Given the description of an element on the screen output the (x, y) to click on. 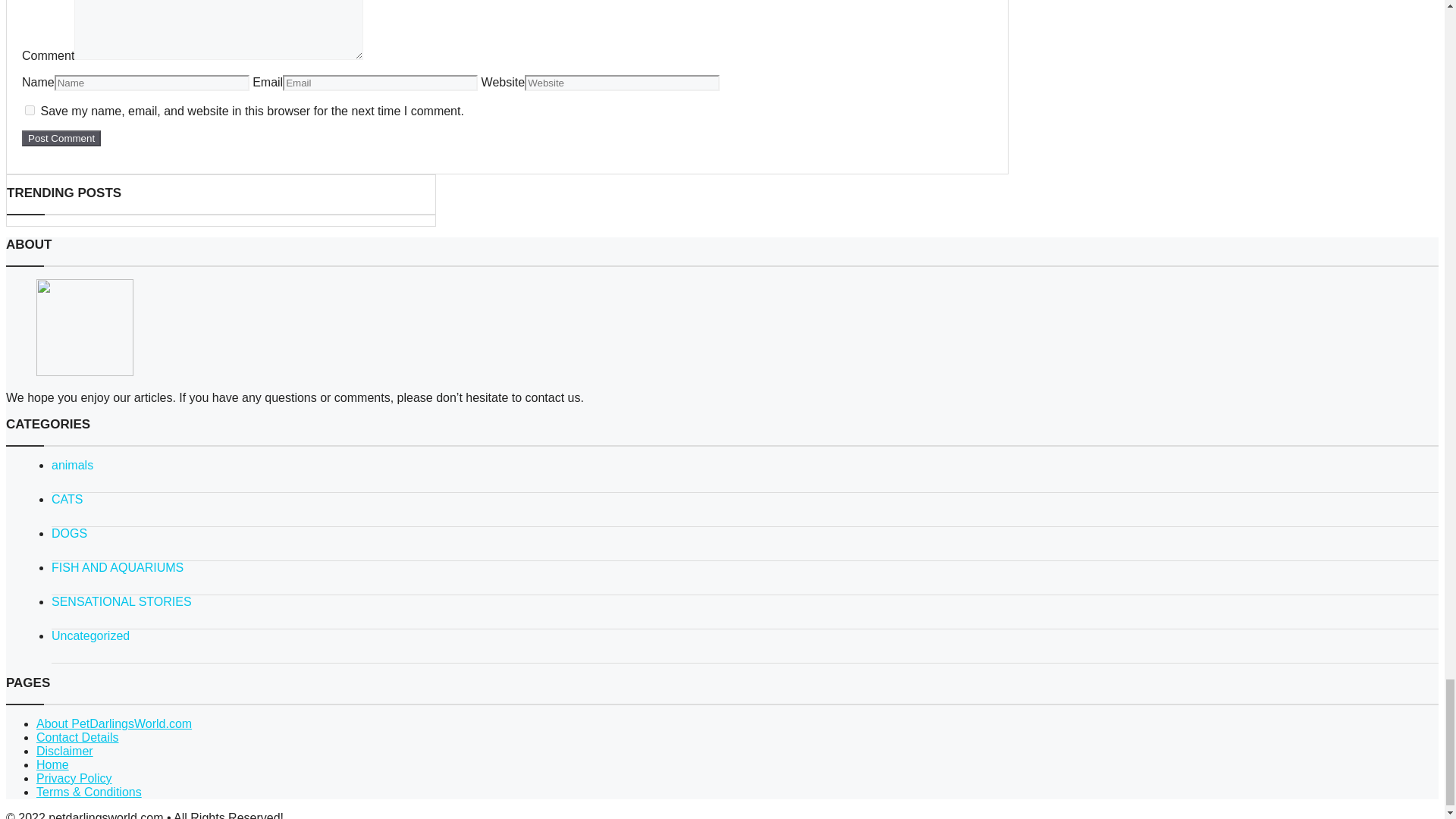
yes (29, 110)
Post Comment (60, 138)
